Given the description of an element on the screen output the (x, y) to click on. 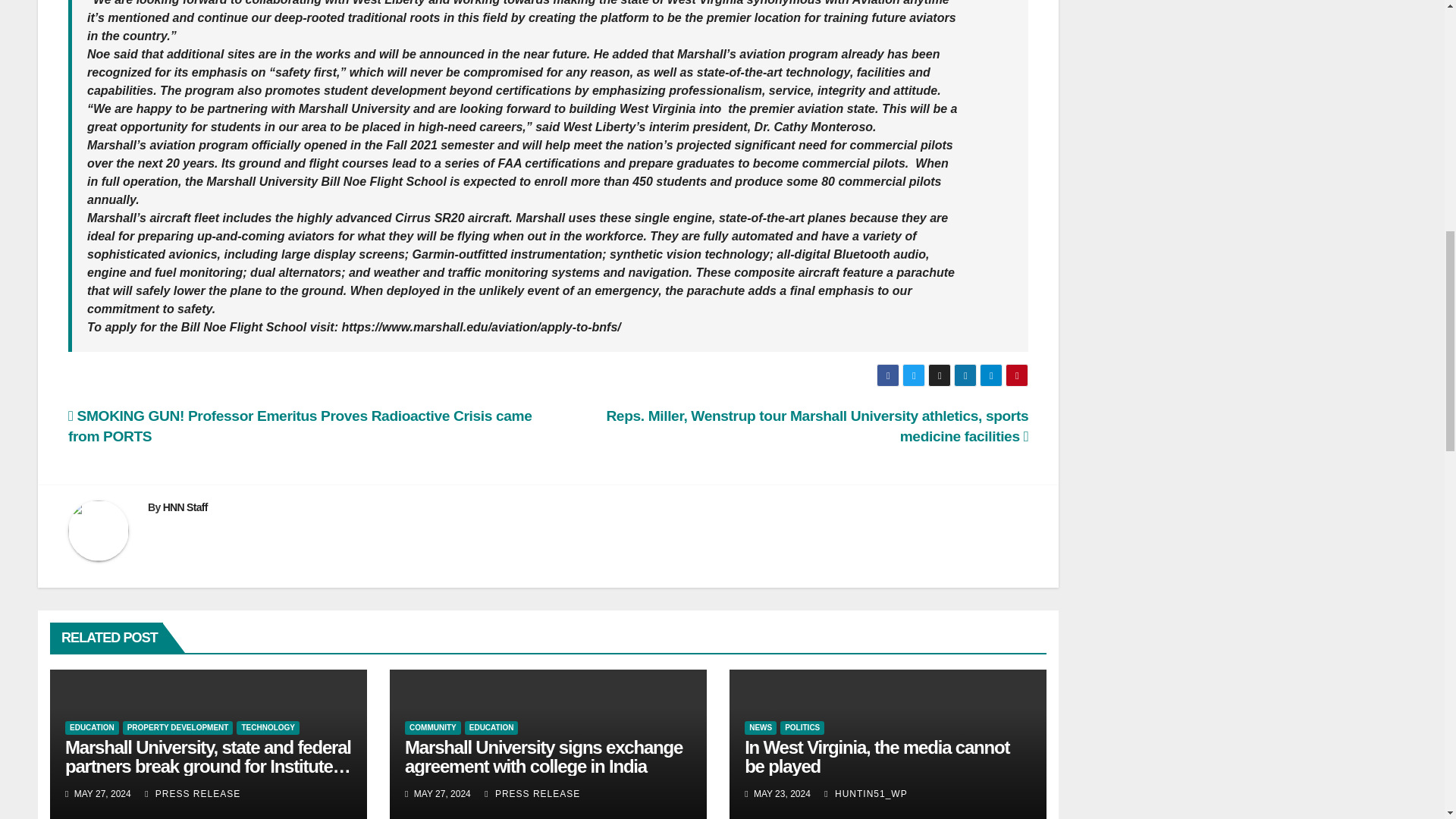
TECHNOLOGY (267, 727)
PRESS RELEASE (192, 793)
Permalink to: In West Virginia, the media cannot be played (876, 756)
EDUCATION (92, 727)
EDUCATION (491, 727)
PROPERTY DEVELOPMENT (177, 727)
HNN Staff (185, 507)
COMMUNITY (432, 727)
